Given the description of an element on the screen output the (x, y) to click on. 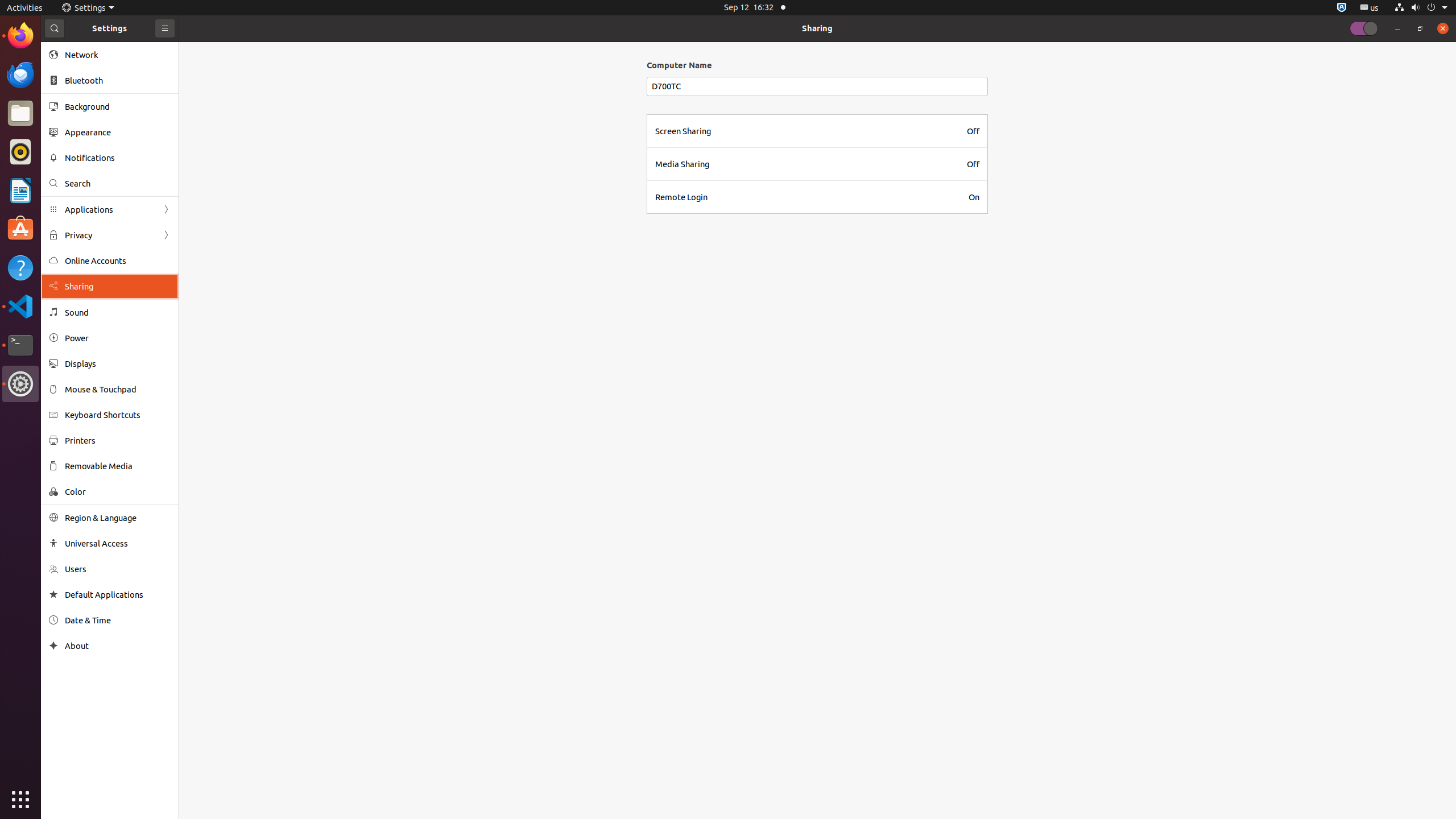
Color Element type: label (117, 491)
Activities Element type: label (24, 7)
Region & Language Element type: label (117, 517)
Power Element type: label (117, 337)
Restore Element type: push-button (1419, 27)
